Given the description of an element on the screen output the (x, y) to click on. 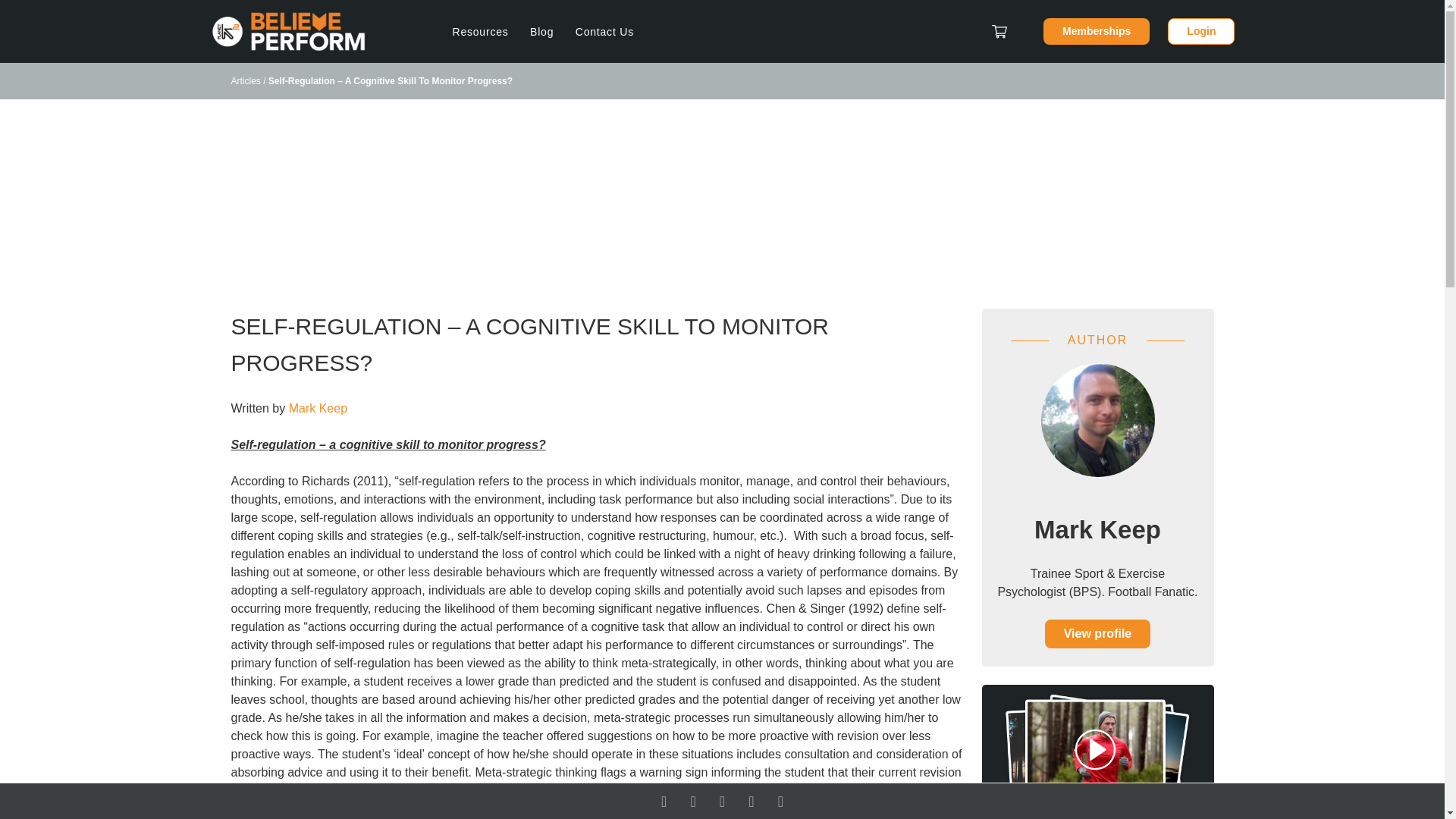
Login (1200, 31)
View profile (1098, 633)
Mark Keep (317, 408)
Mark Keep (1096, 529)
articles (541, 32)
Contact Us (604, 32)
Blog (541, 32)
Memberships (1096, 31)
Resources (479, 32)
